Given the description of an element on the screen output the (x, y) to click on. 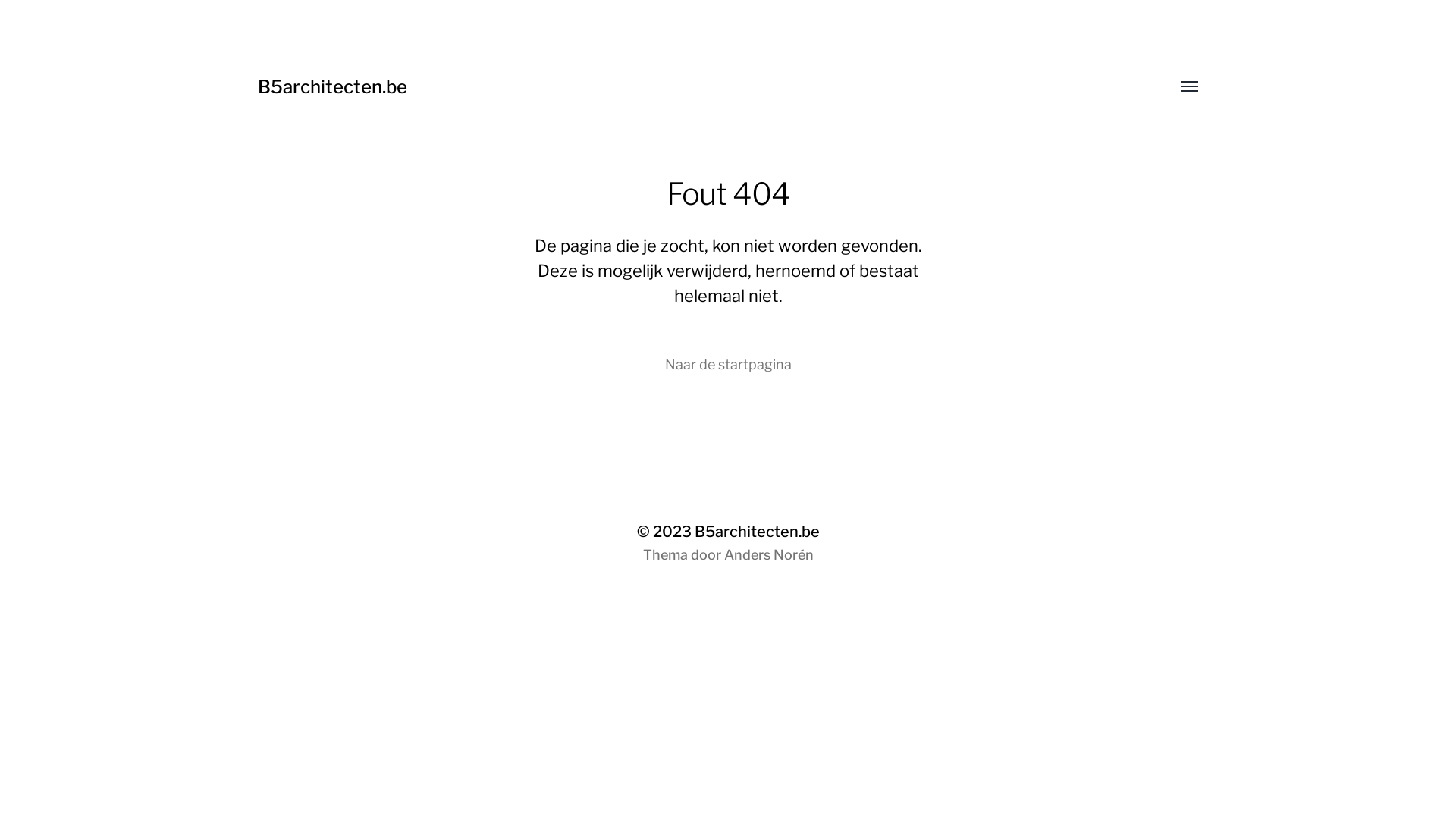
B5architecten.be Element type: text (756, 531)
B5architecten.be Element type: text (332, 86)
Wissel menu Element type: text (1179, 86)
Naar de startpagina Element type: text (727, 364)
